Given the description of an element on the screen output the (x, y) to click on. 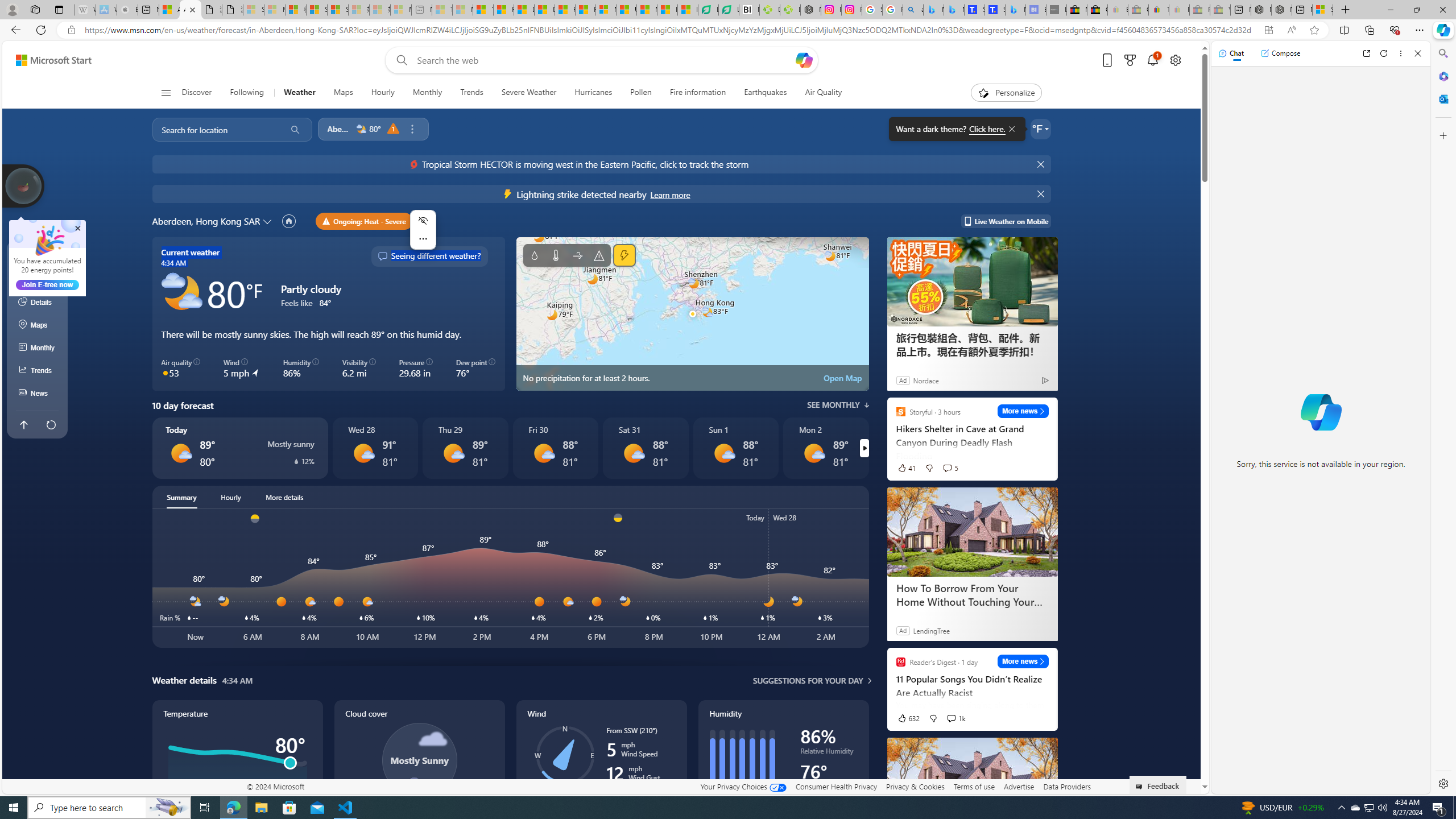
Join us in planting real trees to help our planet! (23, 185)
